Given the description of an element on the screen output the (x, y) to click on. 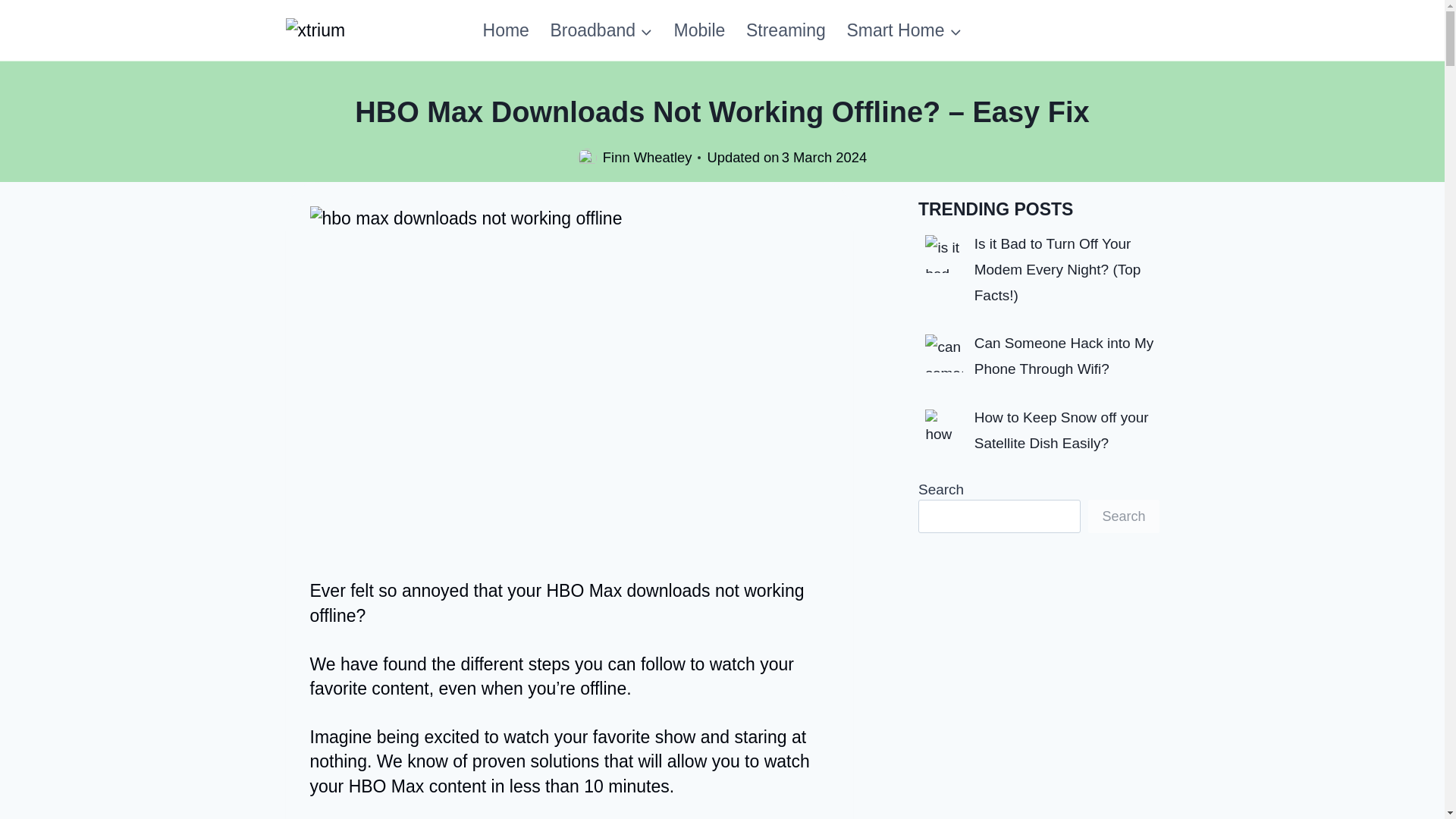
Streaming (785, 30)
Finn Wheatley (647, 157)
How to Keep Snow off your Satellite Dish Easily? (1061, 430)
Smart Home (903, 30)
Broadband (601, 30)
Can Someone Hack into My Phone Through Wifi? (1064, 355)
Mobile (699, 30)
Can Someone Hack into My Phone Through Wifi? 12 (943, 353)
Home (505, 30)
Search (1122, 516)
